Given the description of an element on the screen output the (x, y) to click on. 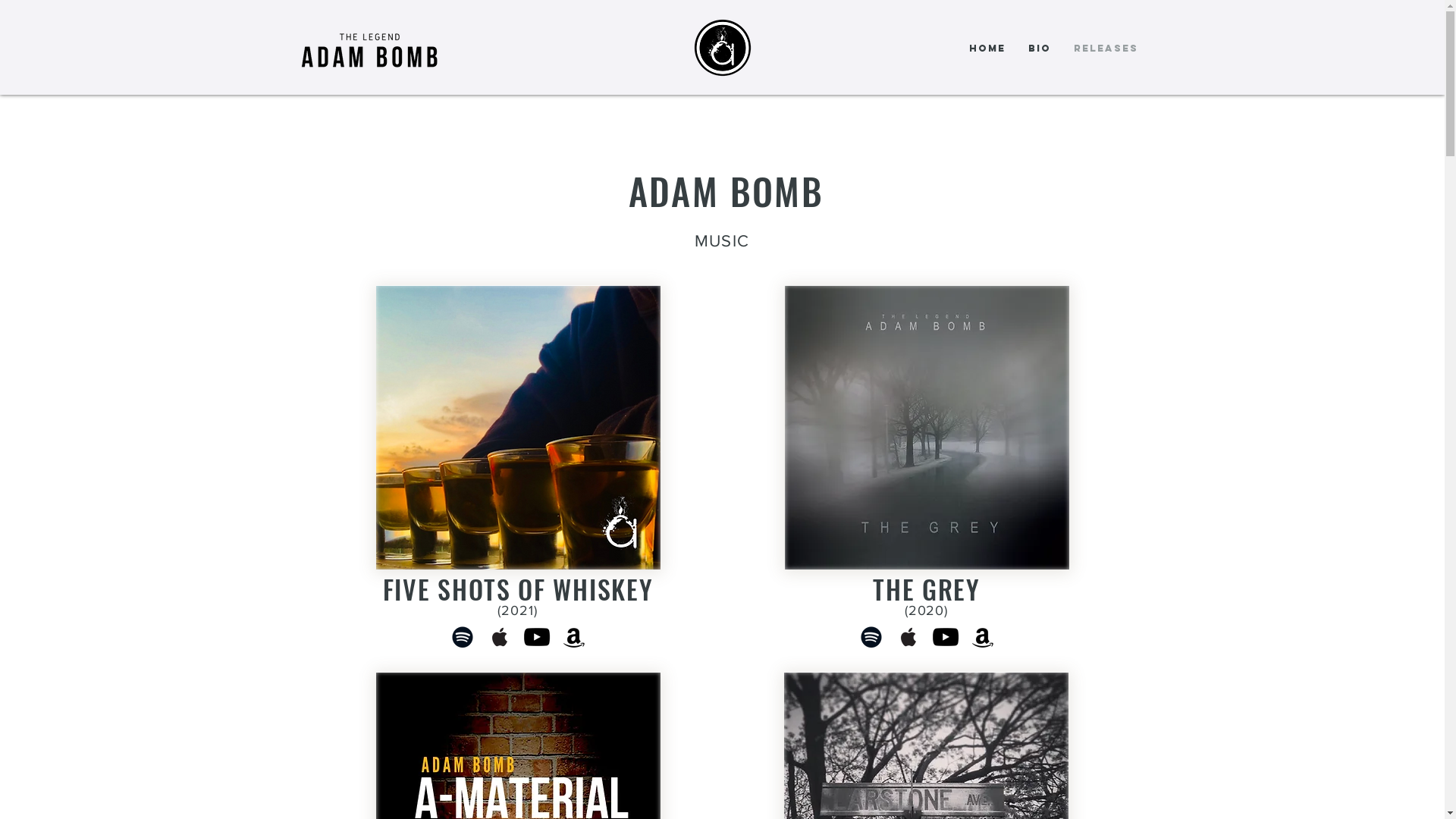
Releases Element type: text (1105, 48)
Bio Element type: text (1039, 48)
Home Element type: text (986, 48)
